Given the description of an element on the screen output the (x, y) to click on. 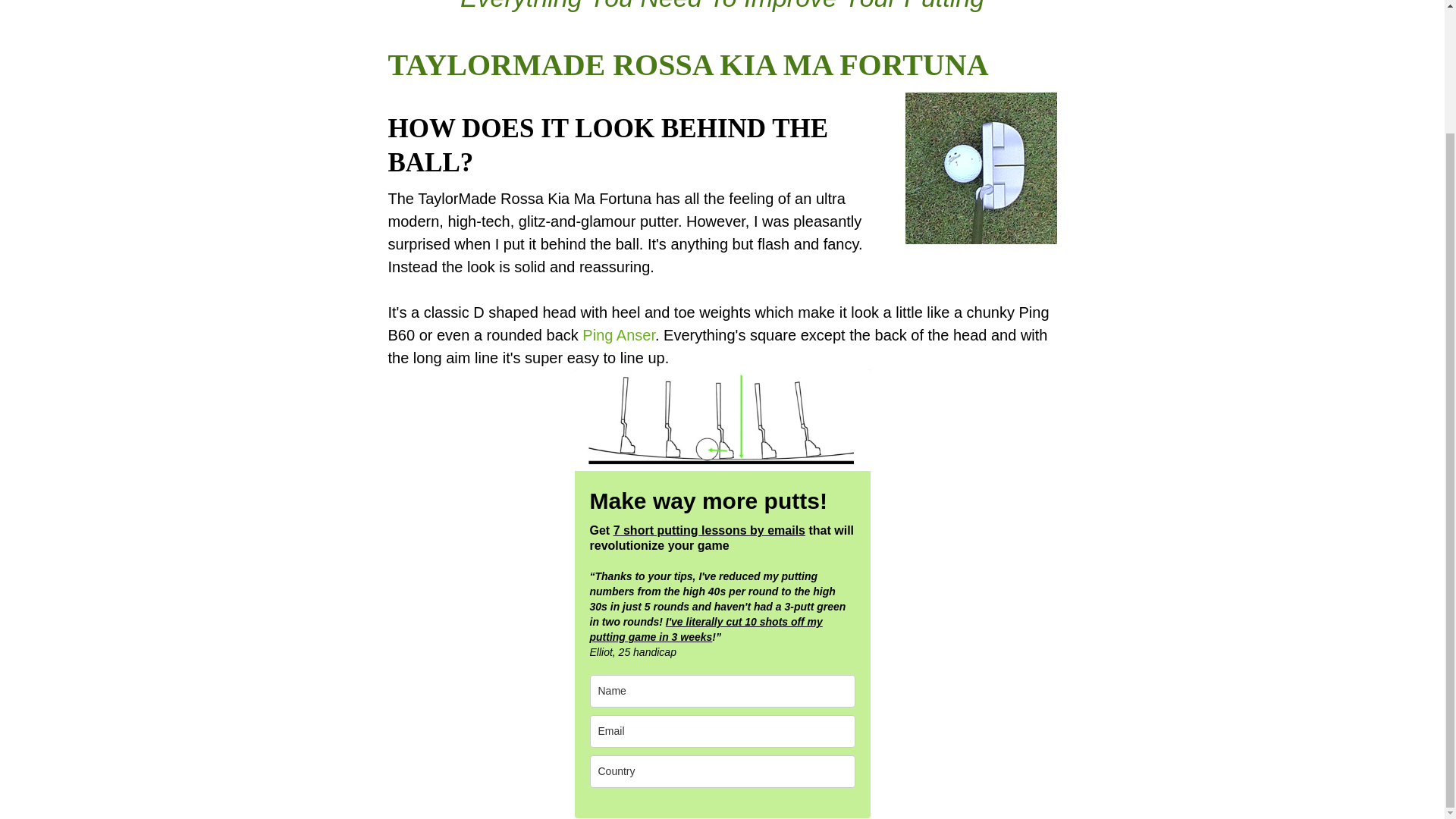
Ping Anser (618, 334)
